Given the description of an element on the screen output the (x, y) to click on. 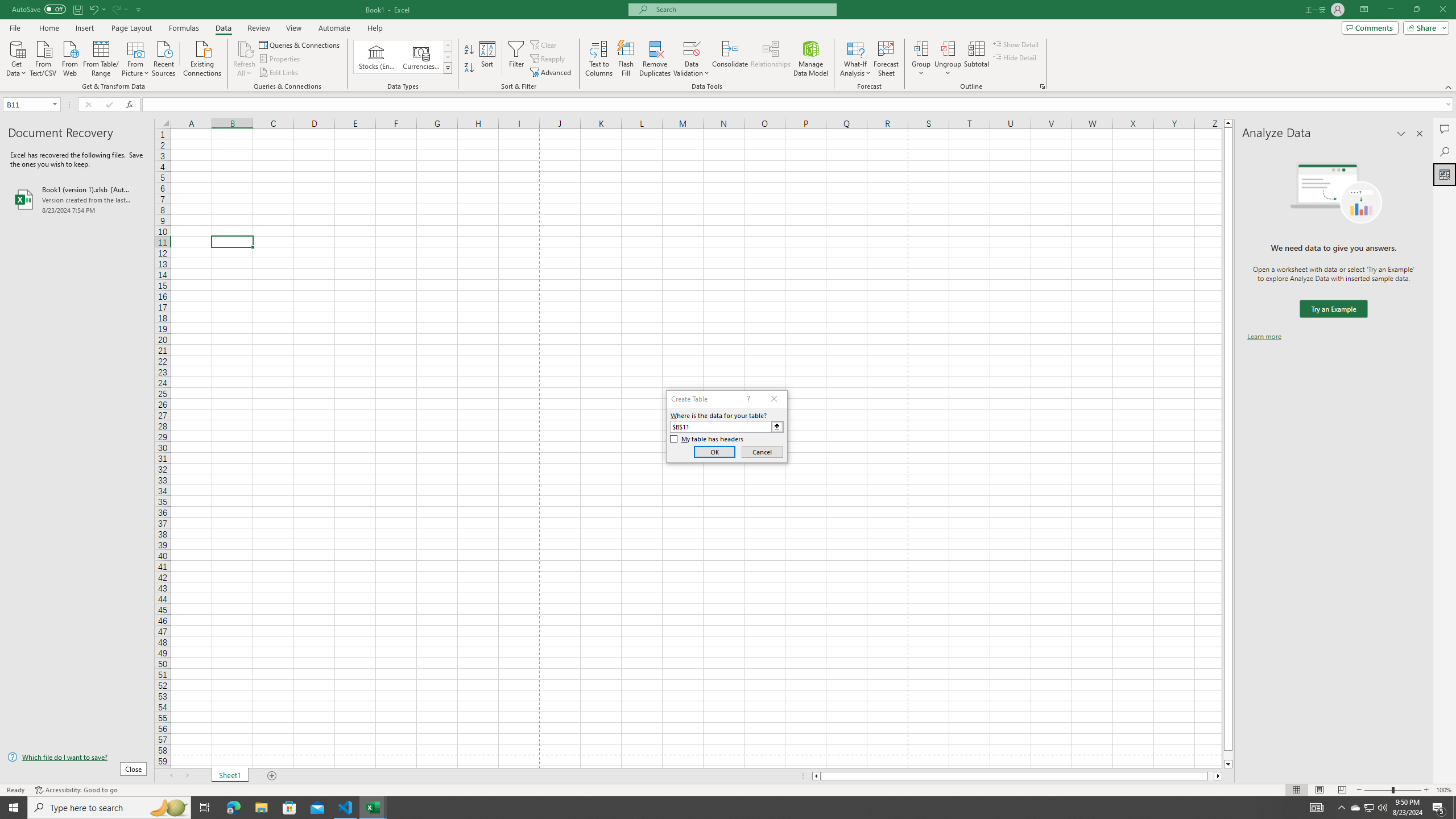
Edit Links (279, 72)
Recent Sources (163, 57)
Row up (448, 45)
Sort Z to A (469, 67)
Flash Fill (625, 58)
Advanced... (551, 72)
